Given the description of an element on the screen output the (x, y) to click on. 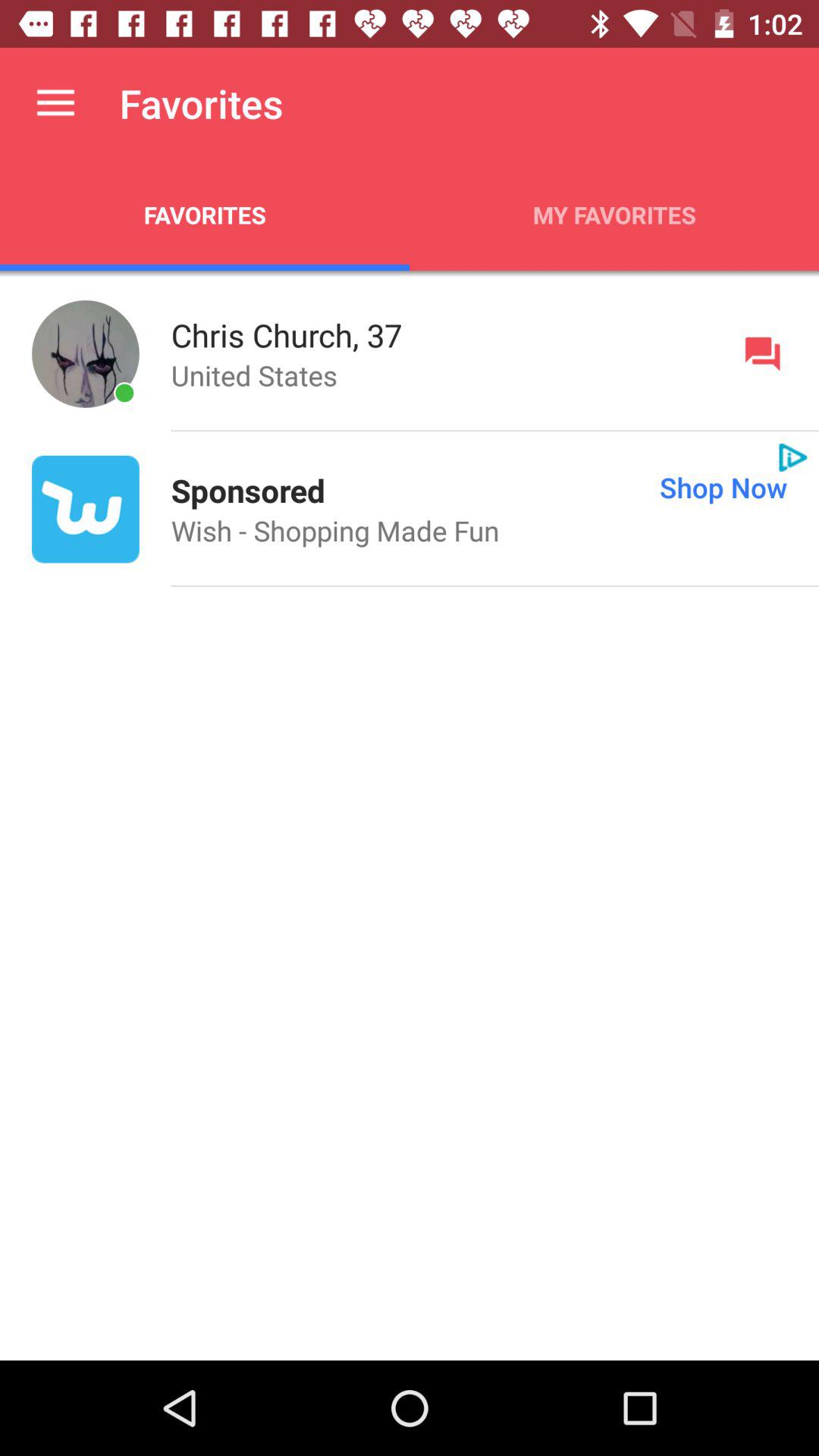
press icon next to shop now (248, 489)
